Given the description of an element on the screen output the (x, y) to click on. 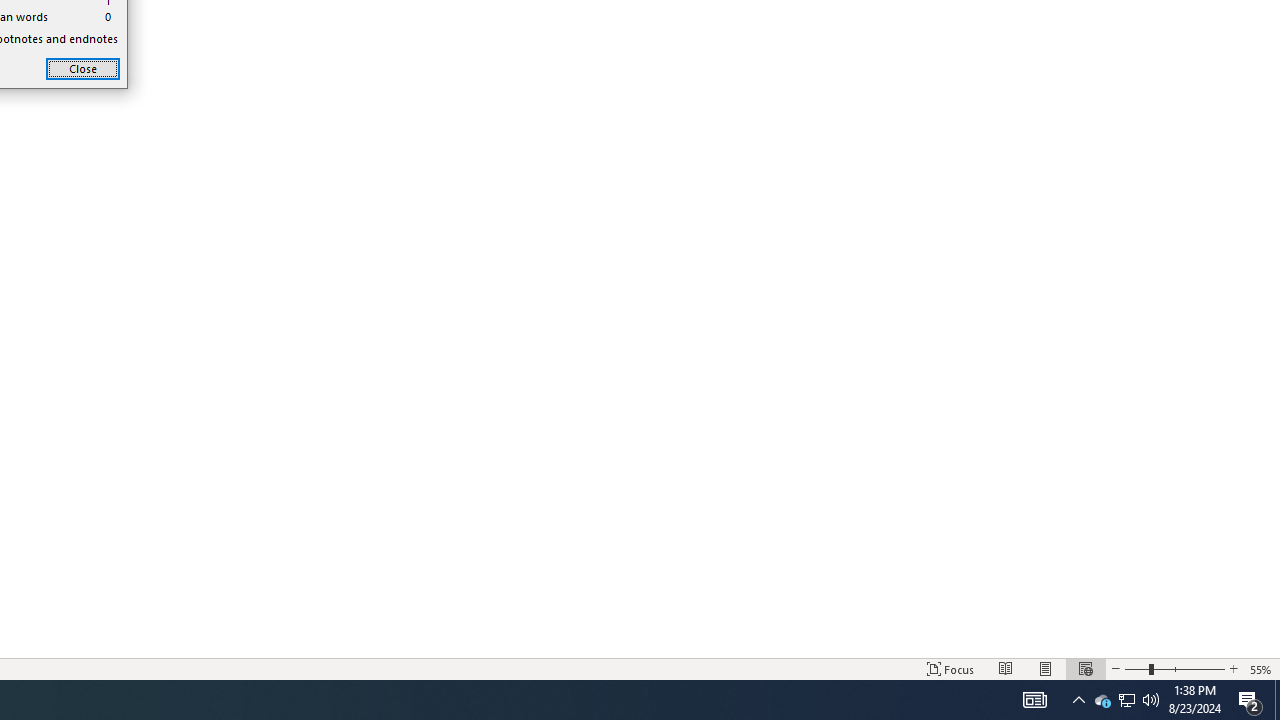
Zoom 55% (1261, 668)
